Given the description of an element on the screen output the (x, y) to click on. 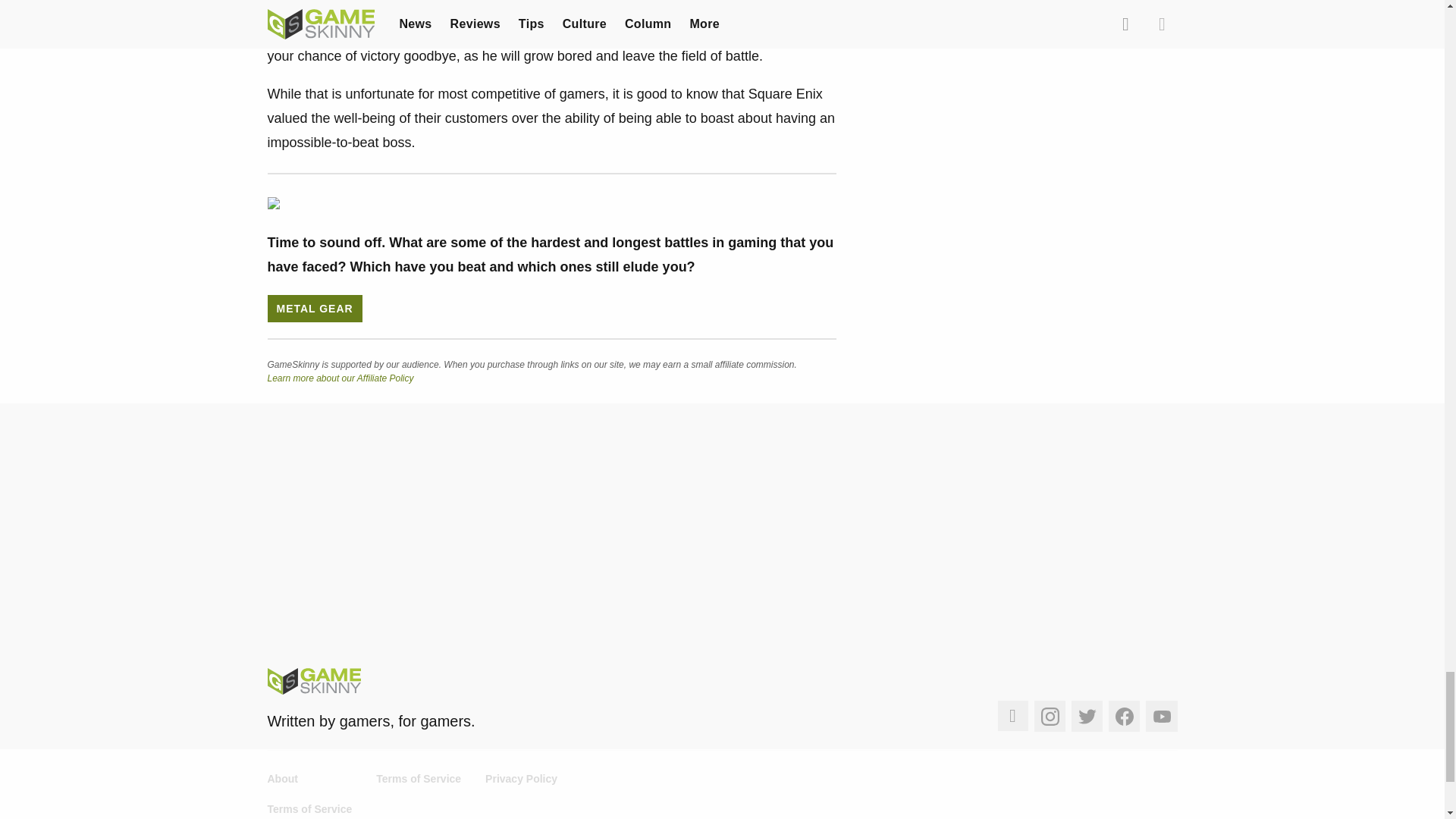
METAL GEAR (313, 308)
Learn more about our Affiliate Policy (339, 378)
